Given the description of an element on the screen output the (x, y) to click on. 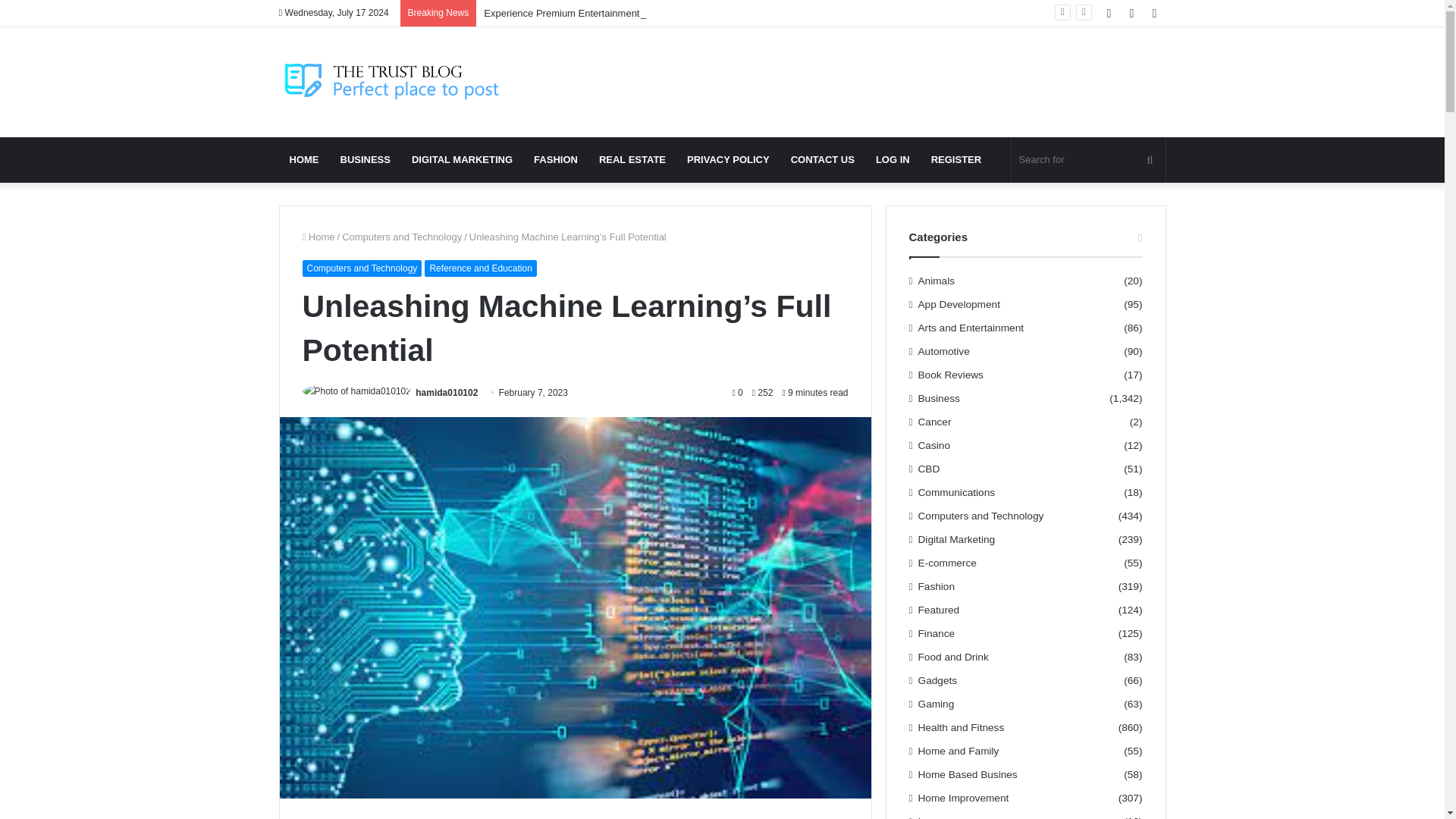
Computers and Technology (401, 236)
hamida010102 (445, 392)
hamida010102 (445, 392)
REAL ESTATE (632, 159)
Advertisement (873, 76)
FASHION (555, 159)
Computers and Technology (361, 268)
Home (317, 236)
BUSINESS (364, 159)
DIGITAL MARKETING (461, 159)
REGISTER (955, 159)
Reference and Education (480, 268)
LOG IN (892, 159)
PRIVACY POLICY (728, 159)
